Given the description of an element on the screen output the (x, y) to click on. 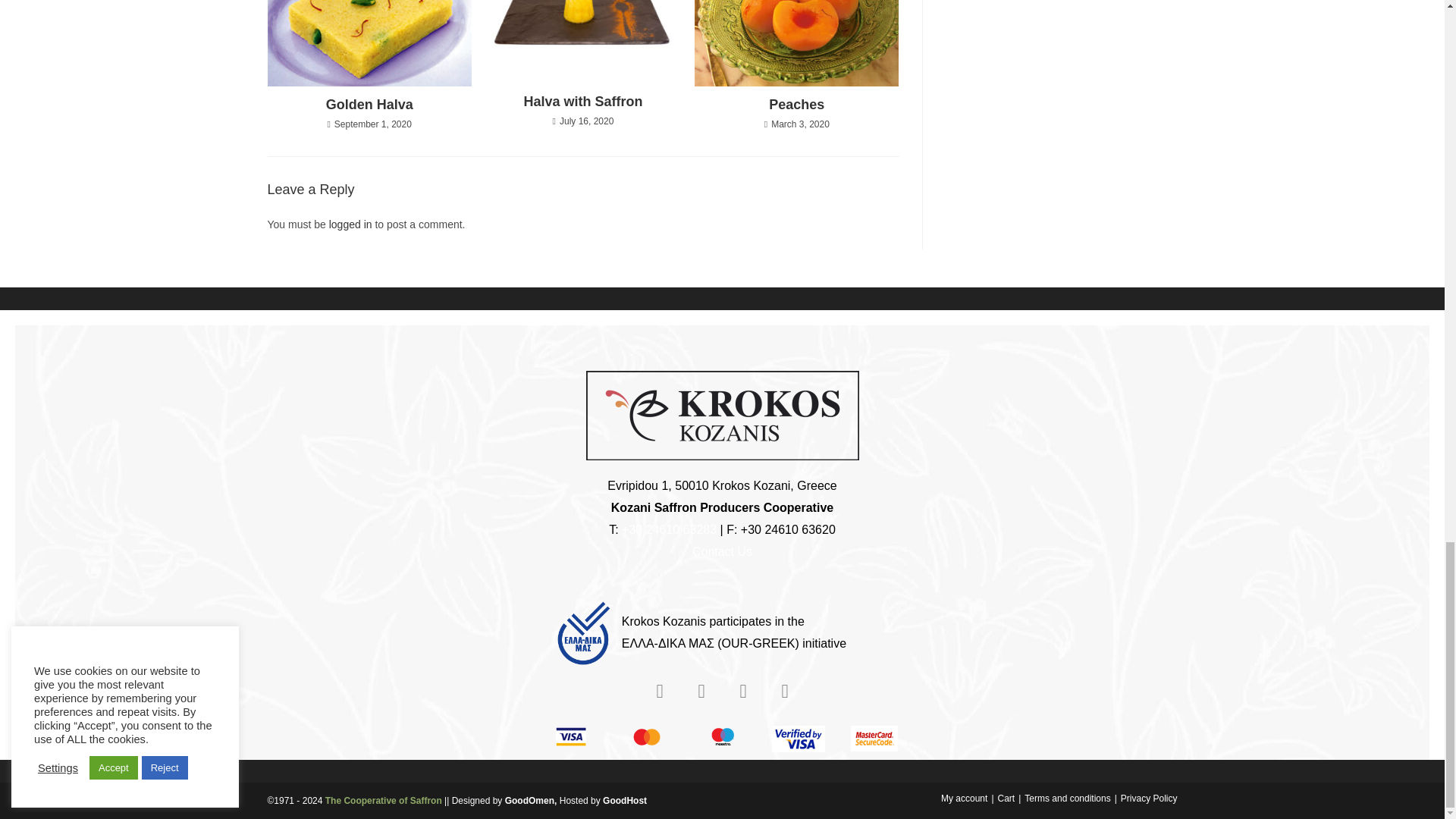
logged in (350, 224)
Golden Halva (369, 104)
Peaches (796, 104)
Peaches (796, 104)
Halva with Saffron (582, 101)
Golden Halva (369, 104)
Krokos Kozanis (722, 415)
Halva with Saffron (582, 101)
